Given the description of an element on the screen output the (x, y) to click on. 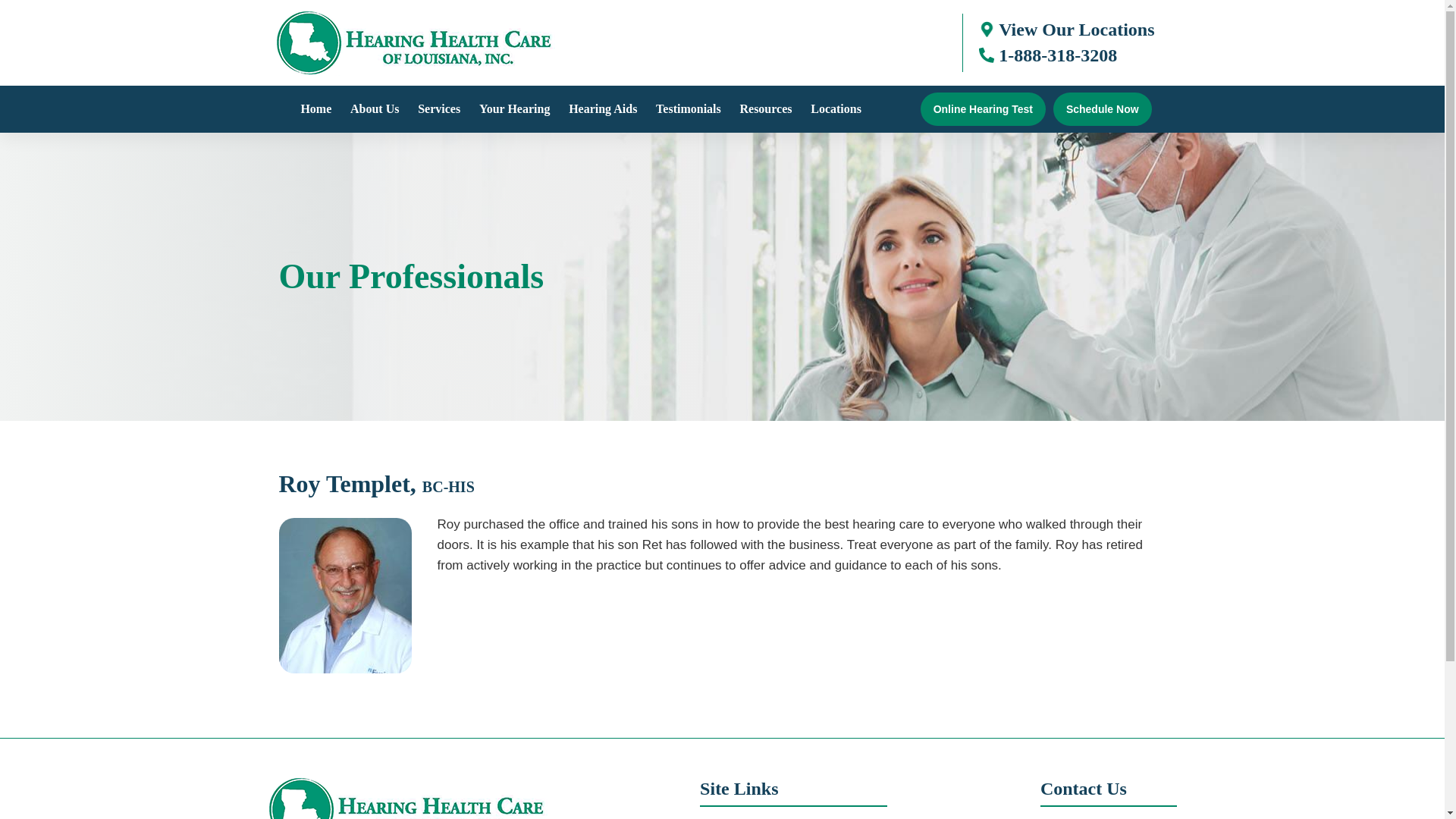
Testimonials (688, 108)
Resources (765, 108)
Your Hearing (514, 108)
1-888-318-3208 (1057, 55)
About Us (374, 108)
Hearing Aids (602, 108)
View Our Locations (1076, 29)
Home (315, 108)
Services (438, 108)
